Given the description of an element on the screen output the (x, y) to click on. 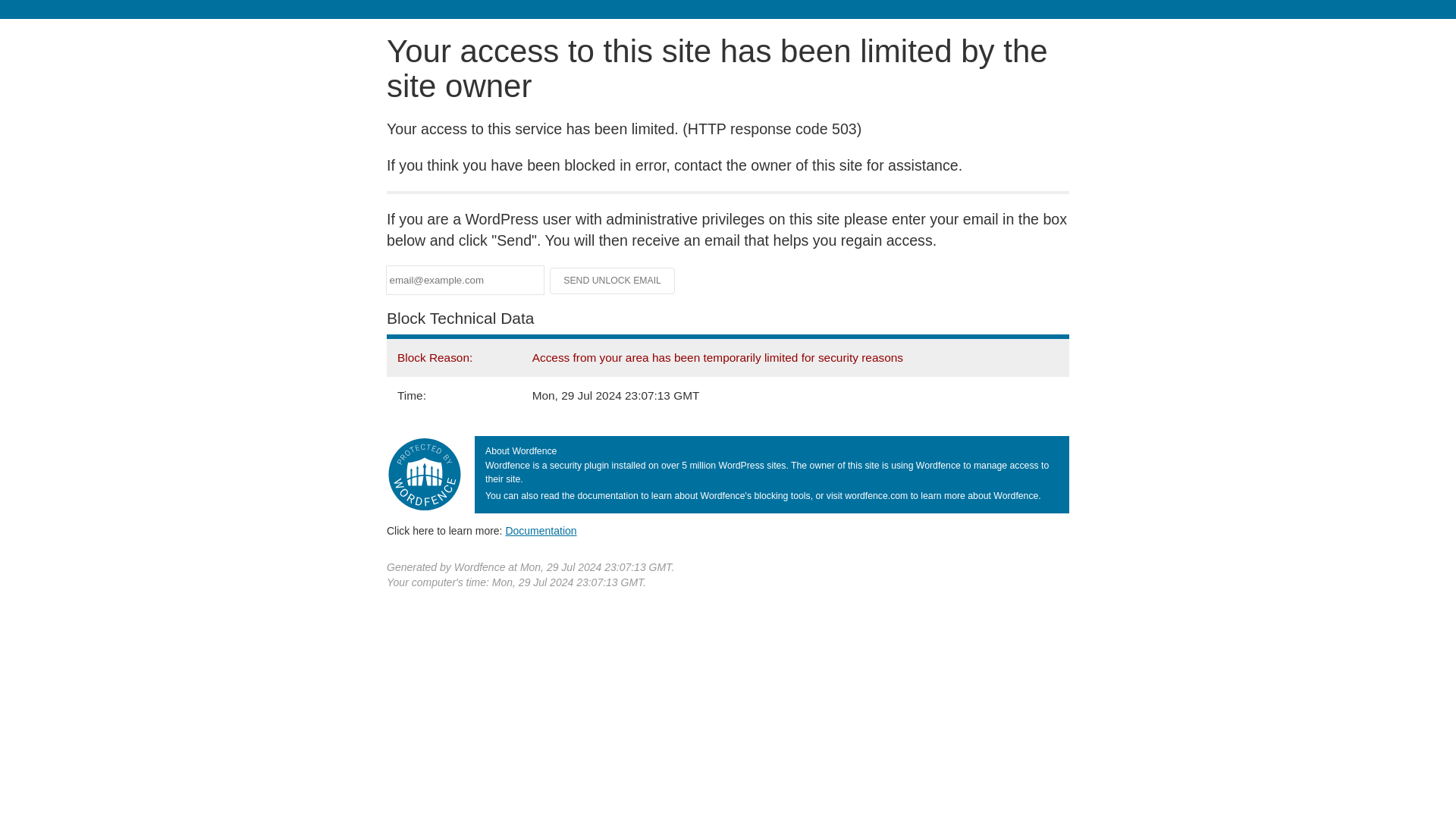
Send Unlock Email (612, 280)
Send Unlock Email (612, 280)
